Given the description of an element on the screen output the (x, y) to click on. 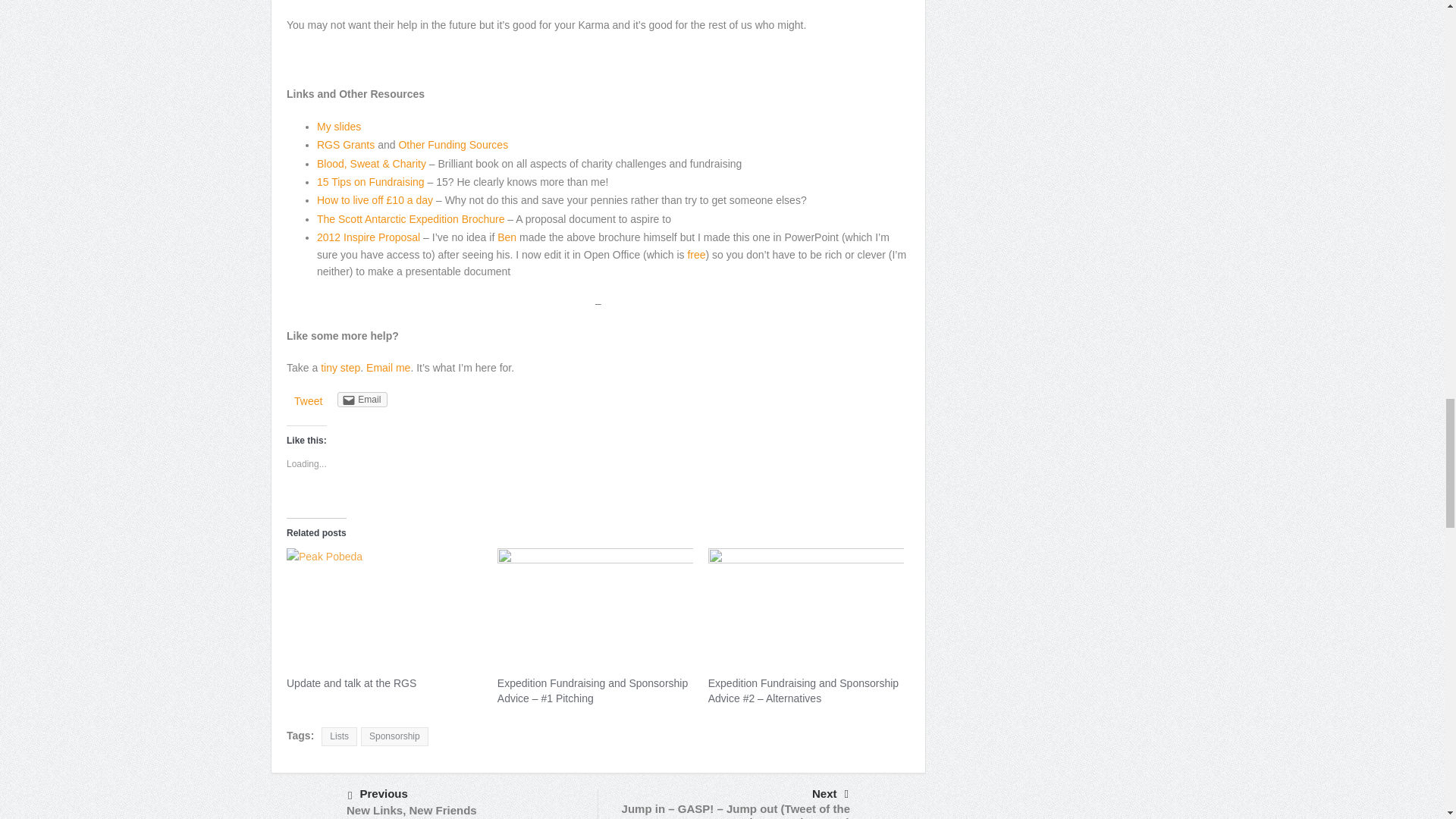
5 Tips on Fundraising (339, 126)
RGS Grants (345, 144)
RGS Other Funding Sources (452, 144)
